Given the description of an element on the screen output the (x, y) to click on. 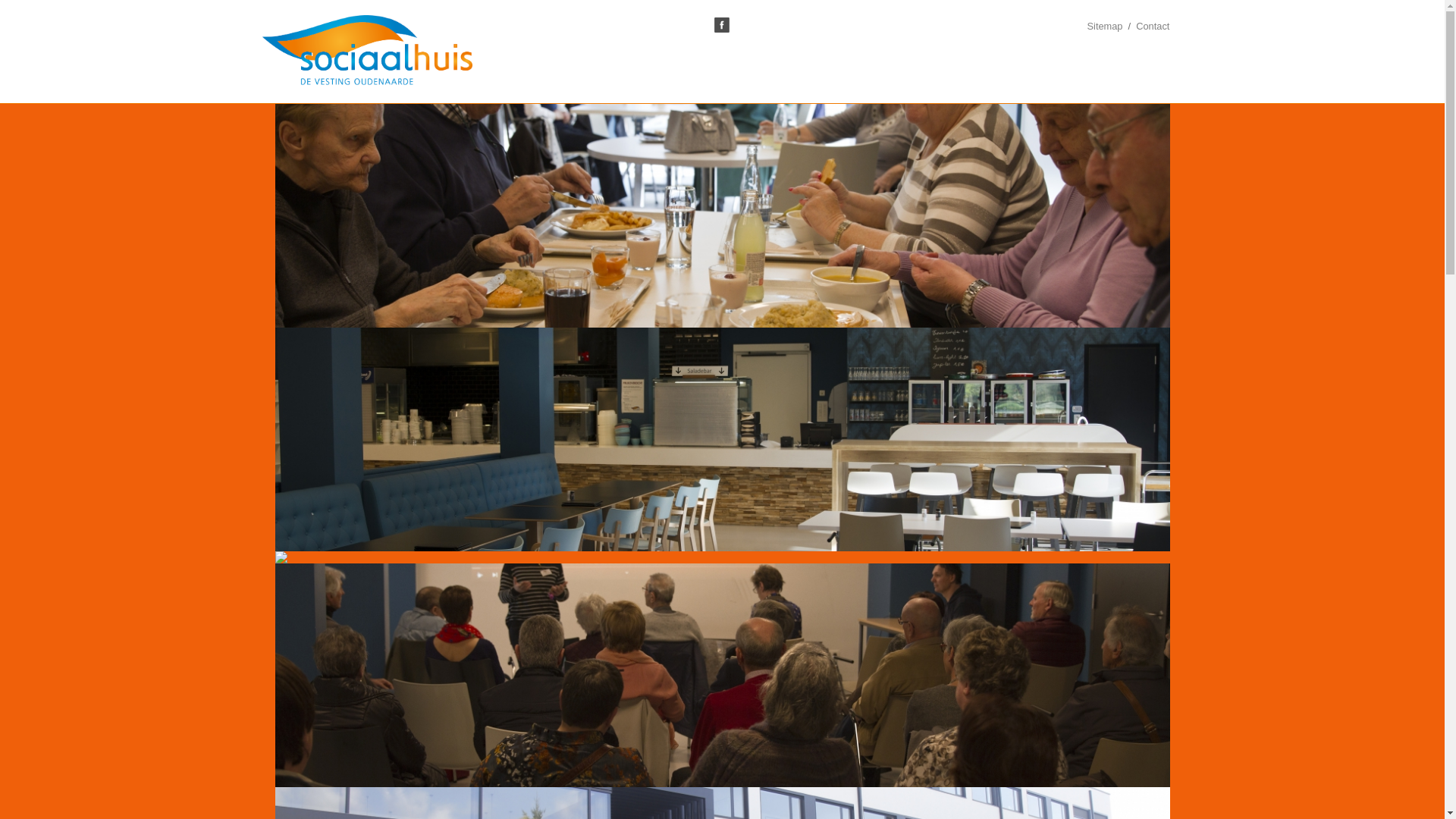
Sitemap Element type: text (1105, 25)
Contact Element type: text (1152, 25)
